Given the description of an element on the screen output the (x, y) to click on. 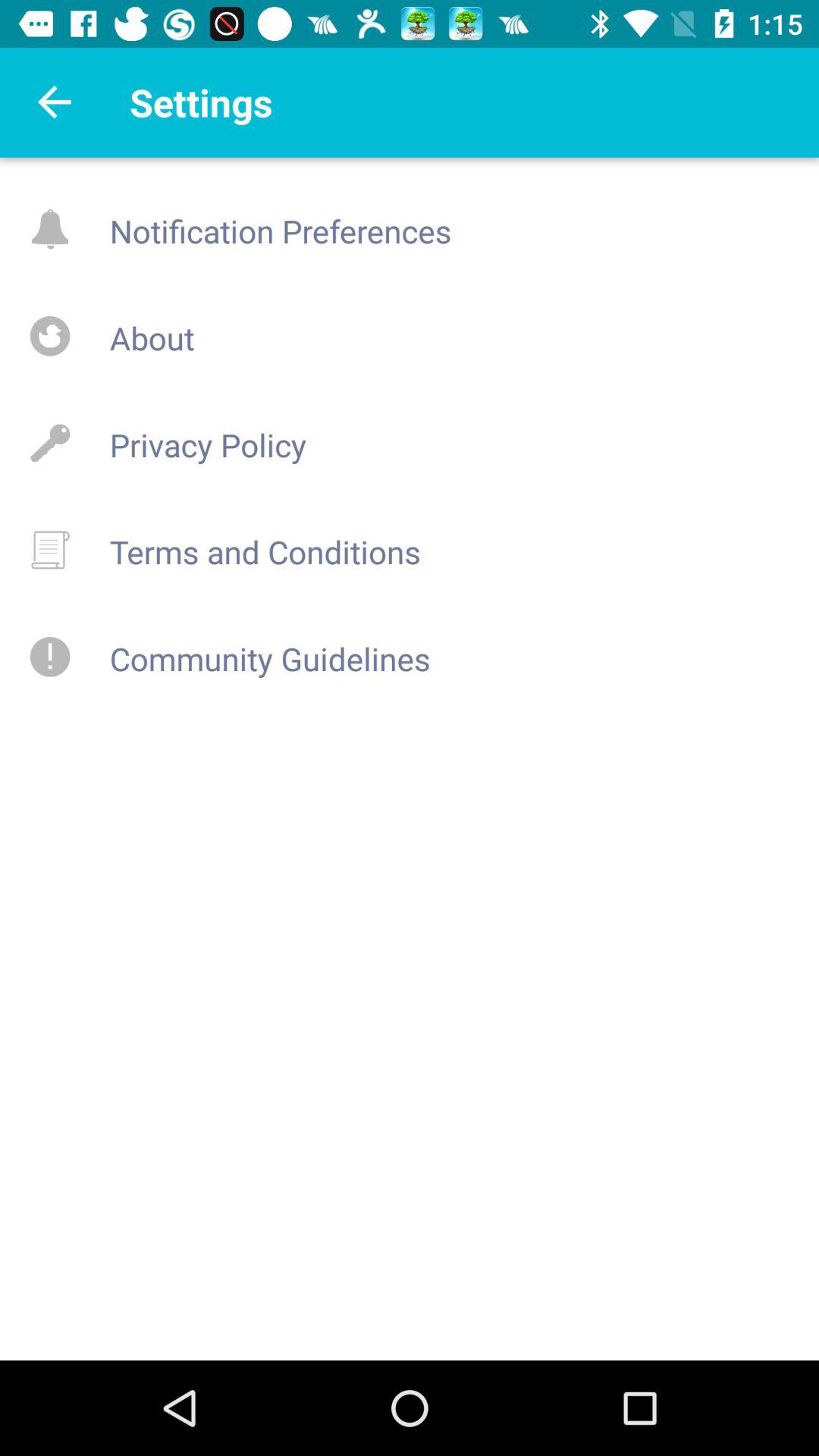
go back (54, 102)
